Given the description of an element on the screen output the (x, y) to click on. 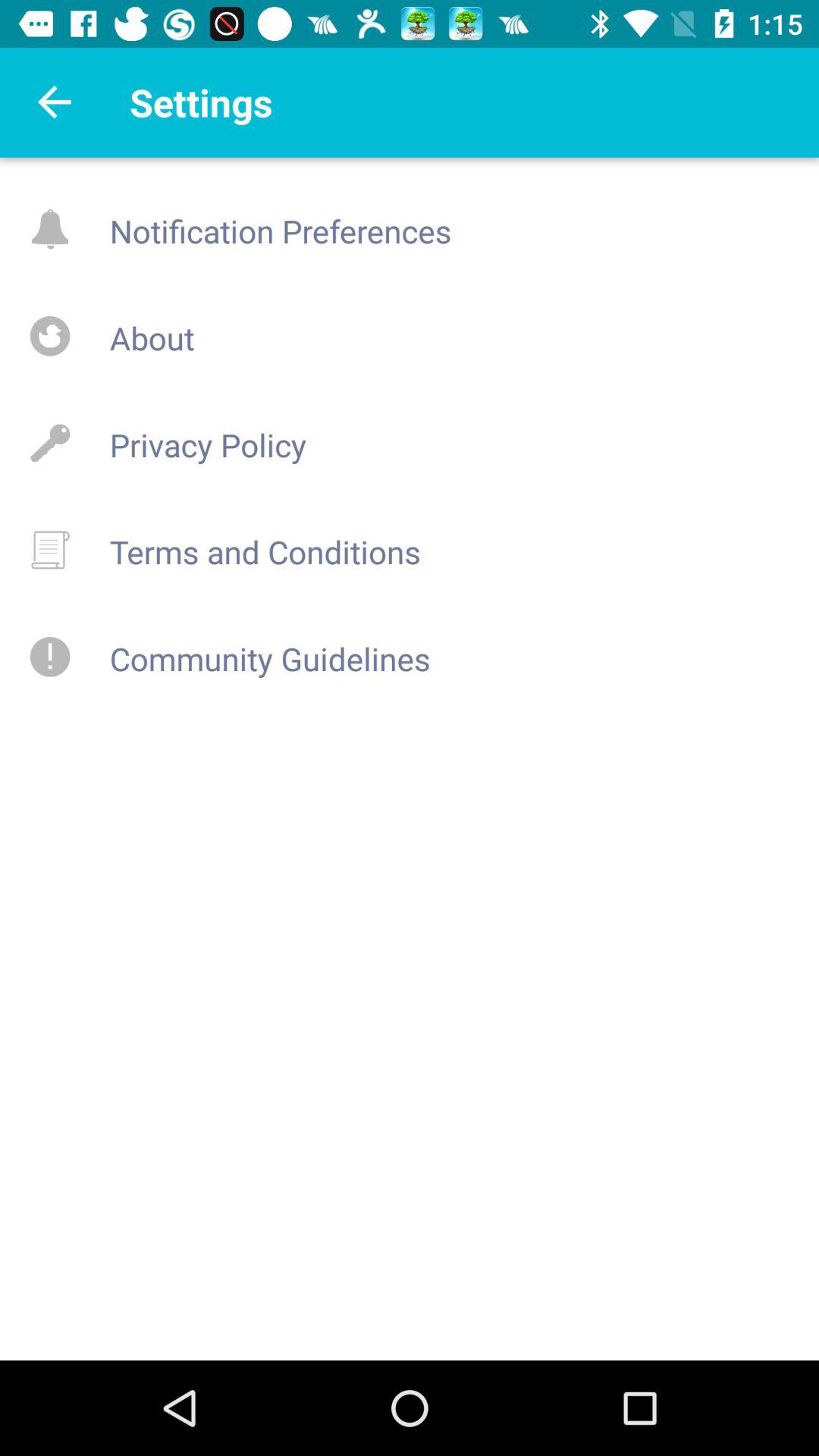
go back (54, 102)
